Given the description of an element on the screen output the (x, y) to click on. 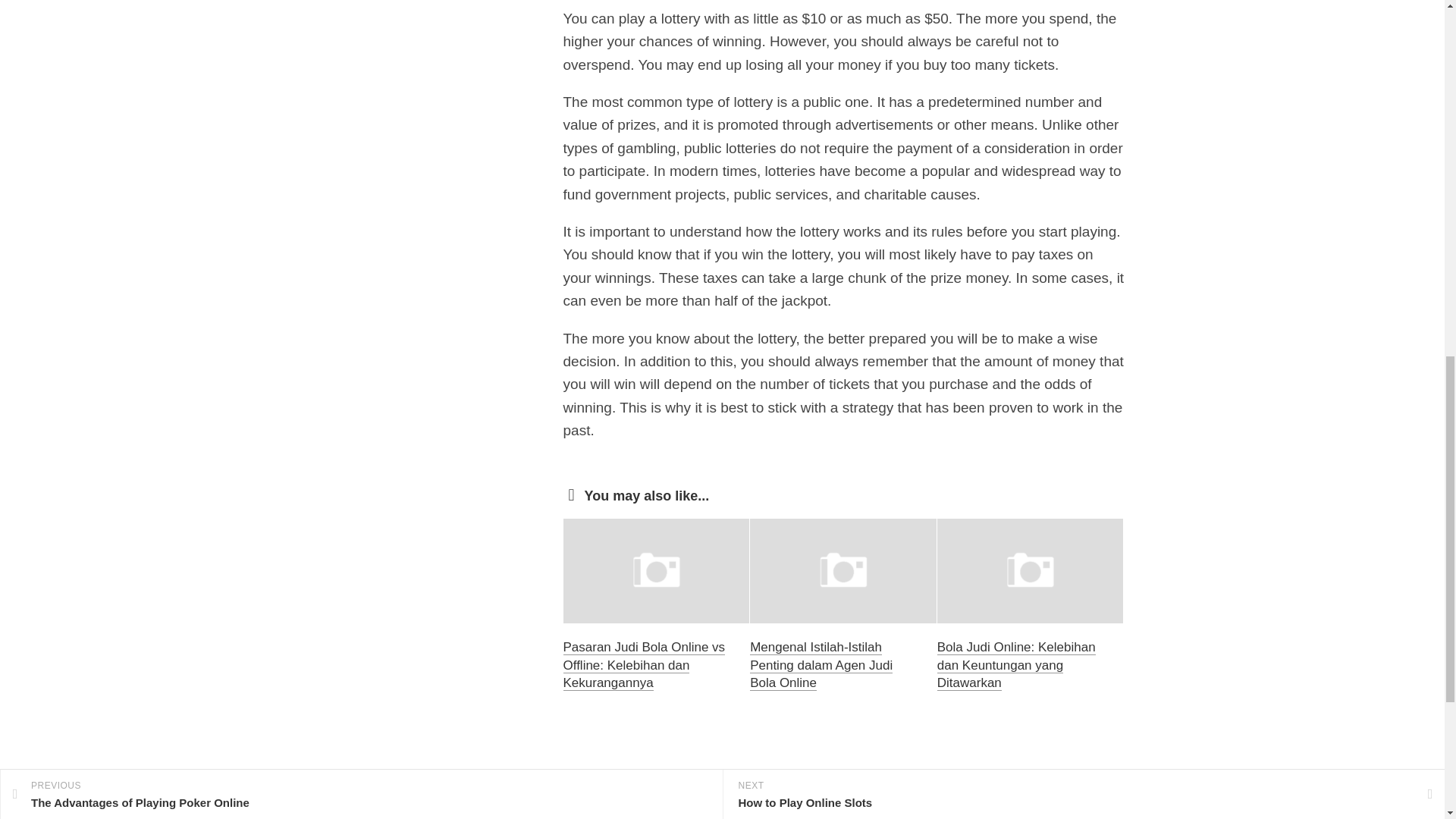
Bola Judi Online: Kelebihan dan Keuntungan yang Ditawarkan (1016, 665)
Mengenal Istilah-Istilah Penting dalam Agen Judi Bola Online (820, 665)
